Given the description of an element on the screen output the (x, y) to click on. 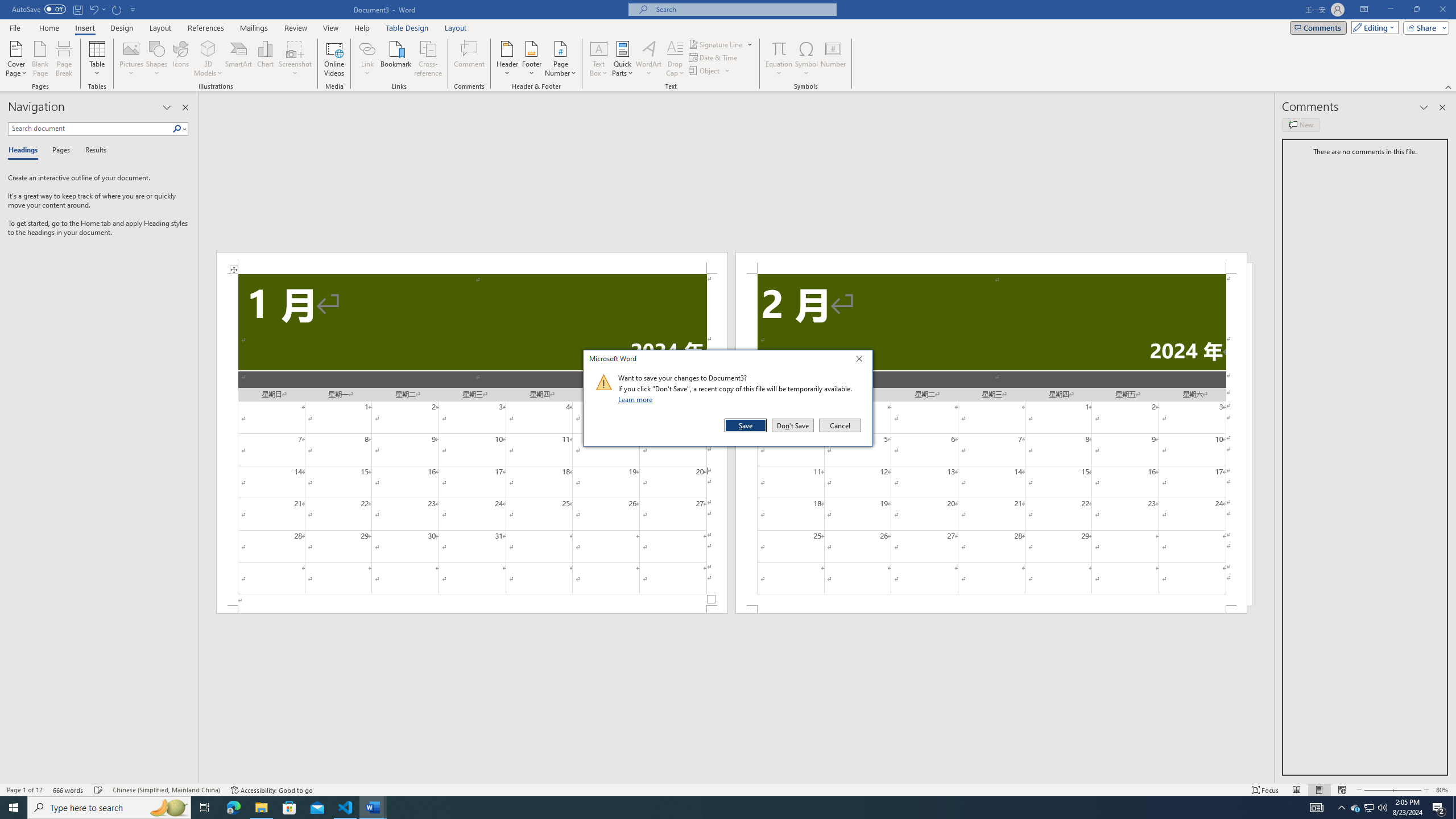
Accessibility Checker Accessibility: Good to go (271, 790)
Show desktop (1454, 807)
Footer -Section 2- (991, 609)
Cover Page (16, 58)
Cross-reference... (428, 58)
Equation (778, 58)
SmartArt... (238, 58)
Class: NetUIImage (603, 382)
Table (97, 58)
Blank Page (40, 58)
Mailings (253, 28)
Share (1423, 27)
Zoom In (1405, 790)
Word - 2 running windows (373, 807)
